Given the description of an element on the screen output the (x, y) to click on. 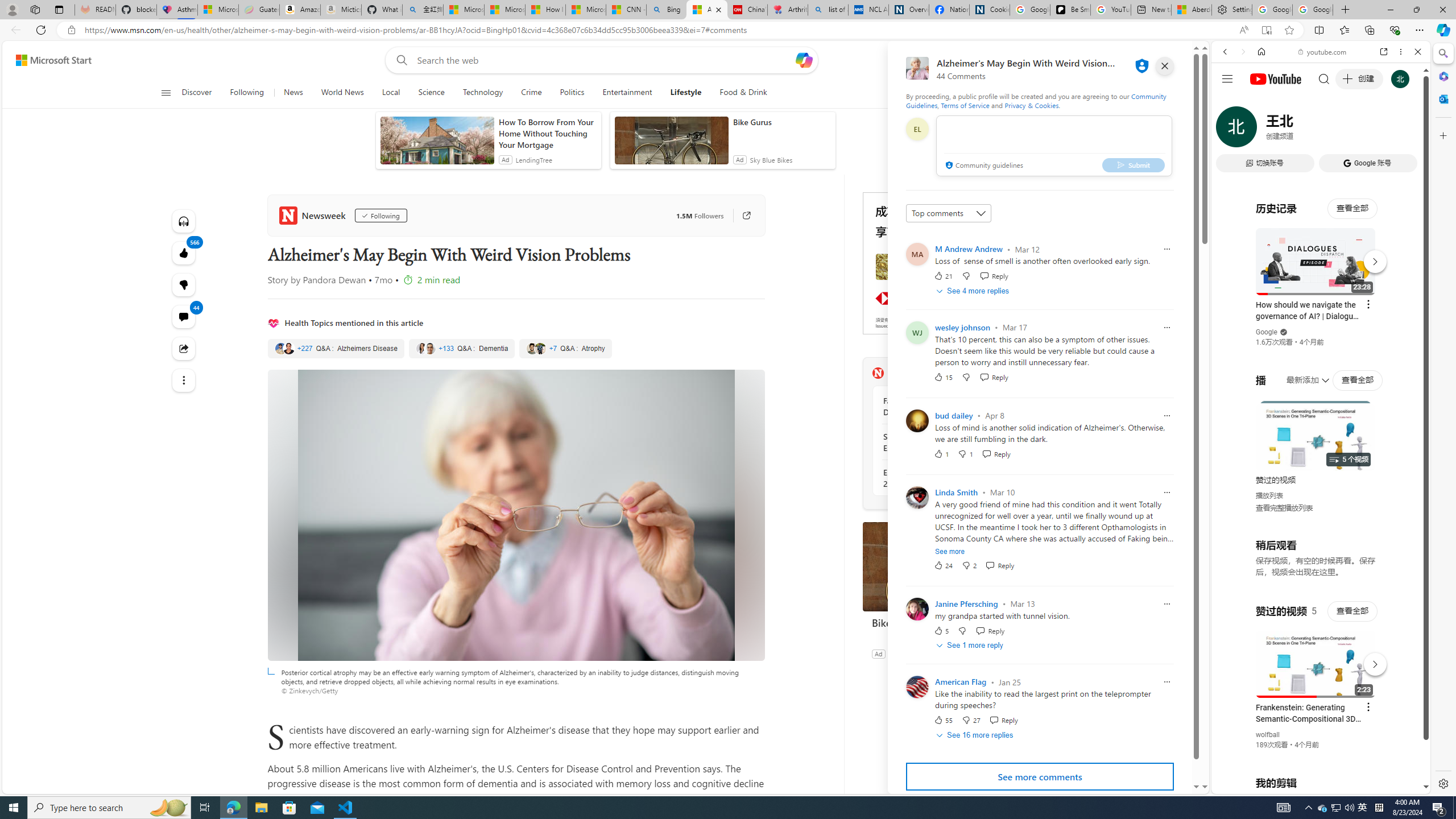
Address and search bar (658, 29)
Bing (666, 9)
M Andrew Andrew (968, 248)
Asthma Inhalers: Names and Types (176, 9)
YouTube - YouTube (1315, 560)
Close Customize pane (1442, 135)
Share this story (183, 348)
Back (1225, 51)
CNN - MSN (625, 9)
